Given the description of an element on the screen output the (x, y) to click on. 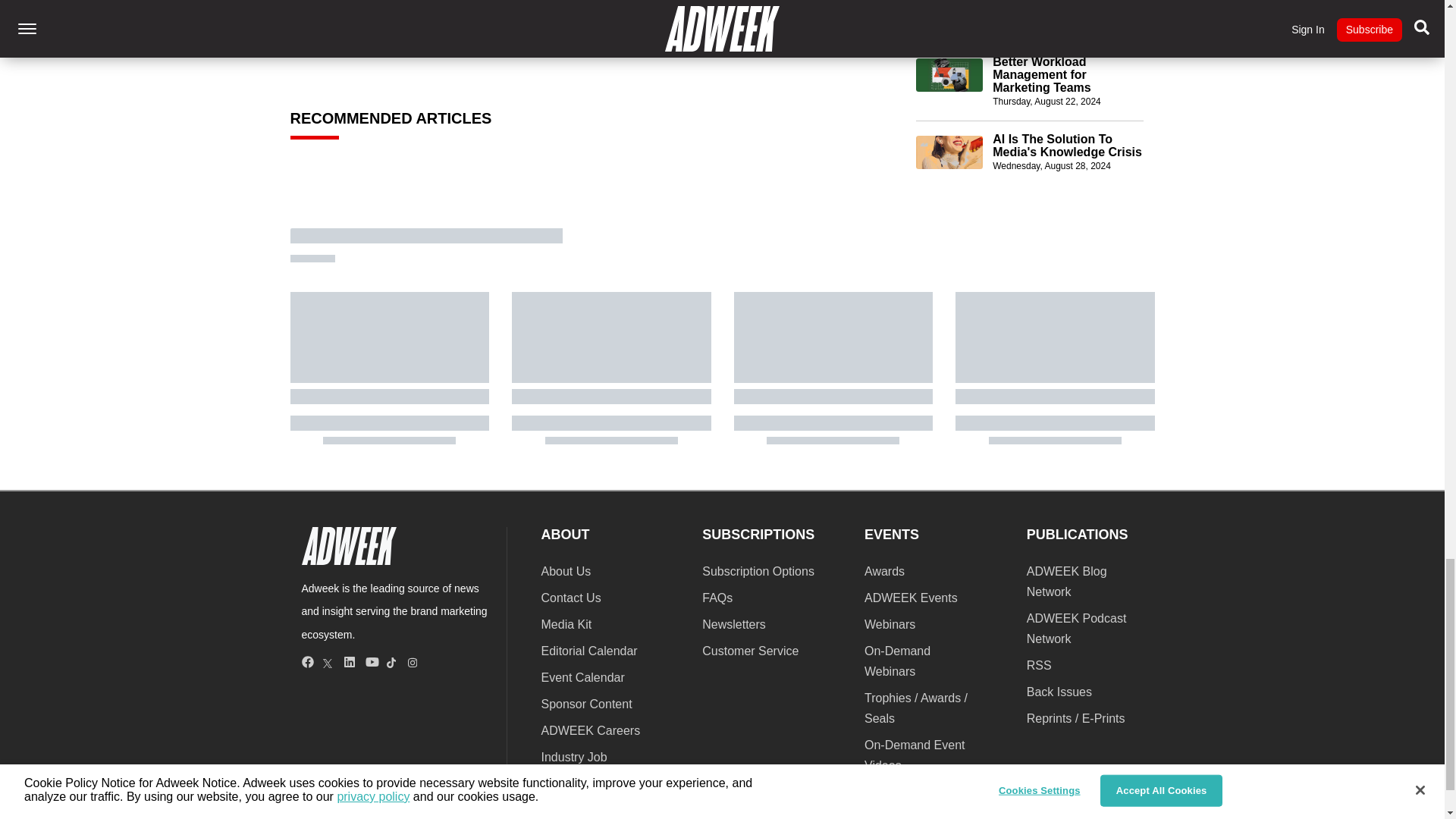
Qatalog-Webinar-082824-Header (948, 151)
Nativo-Webinar-082124-Header (948, 13)
Rebecca Stewart-2022 (338, 21)
Adobe-Webinar-082224-Header (948, 74)
